Given the description of an element on the screen output the (x, y) to click on. 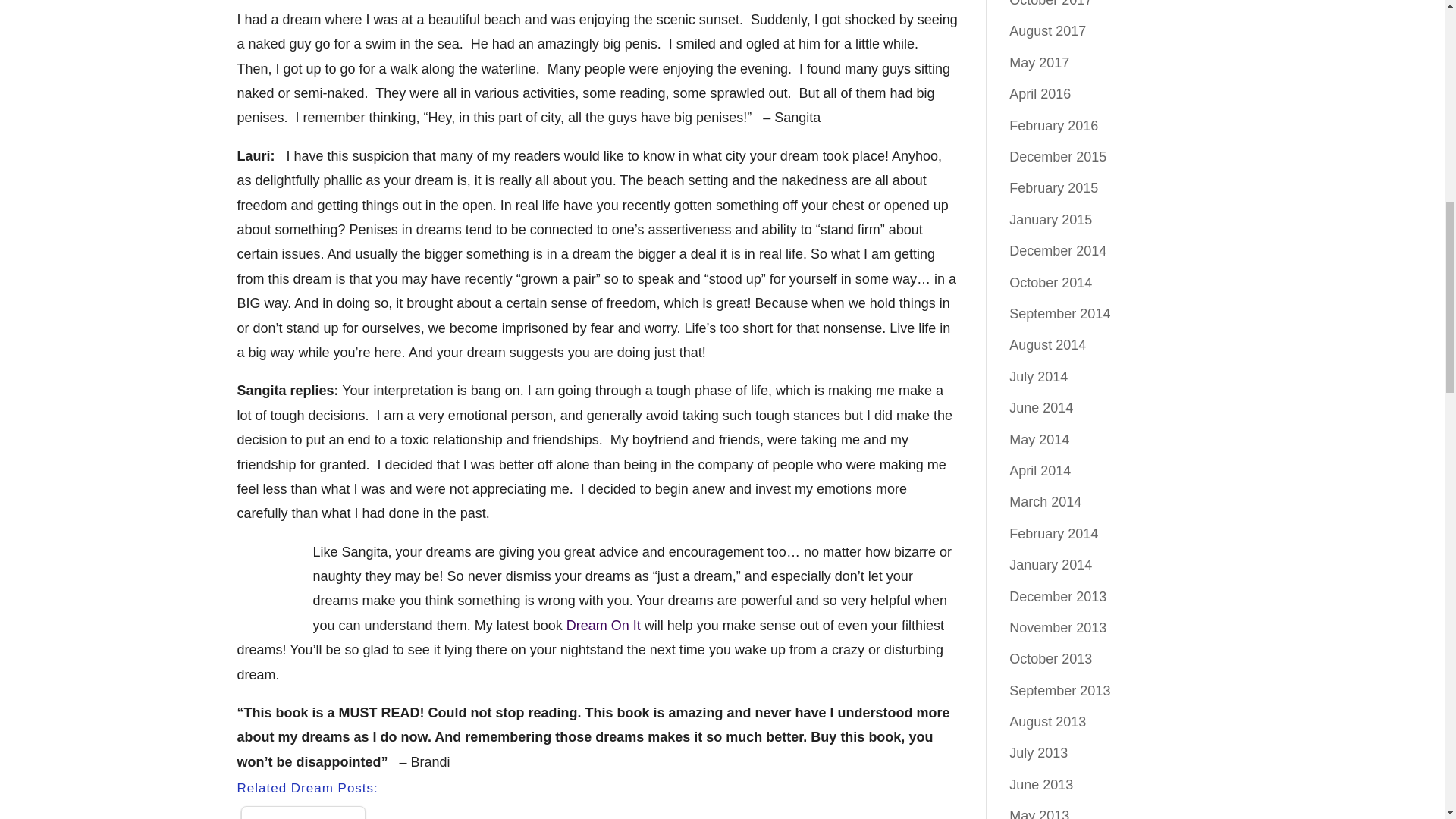
That Time Meat Loaf Told Me About His Recurring Dream (302, 815)
